Given the description of an element on the screen output the (x, y) to click on. 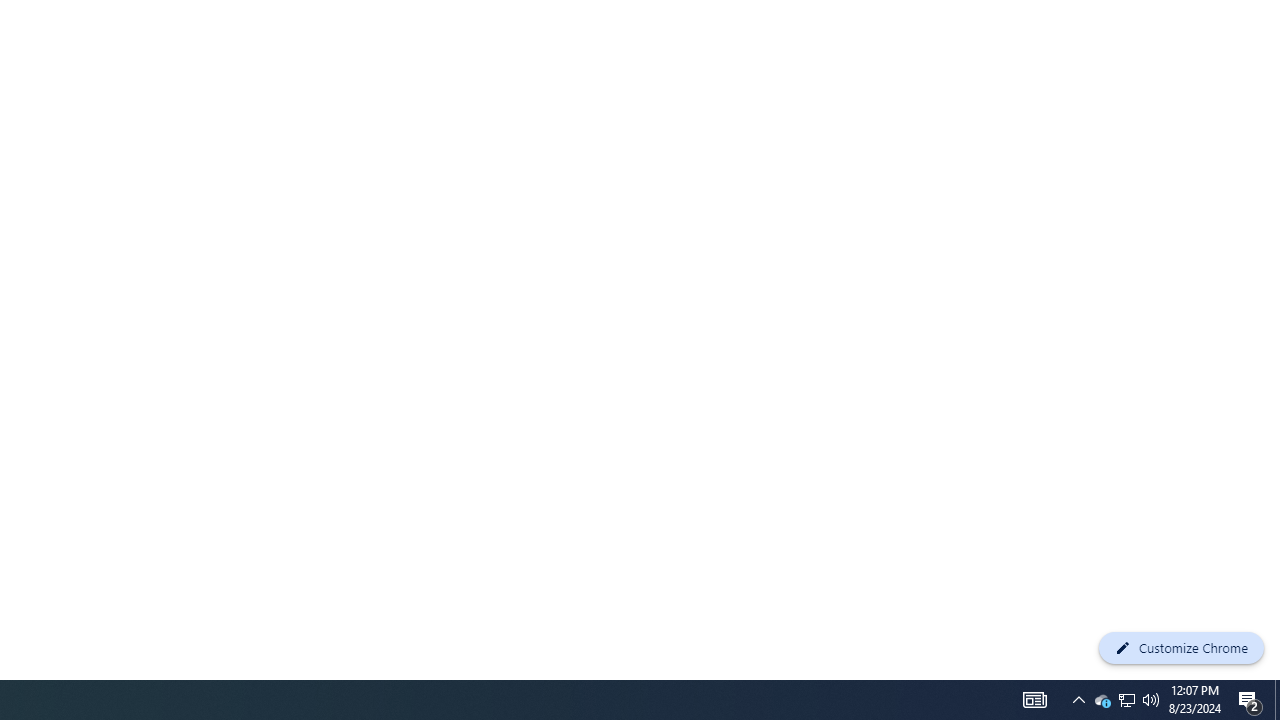
Customize Chrome (1181, 647)
